Given the description of an element on the screen output the (x, y) to click on. 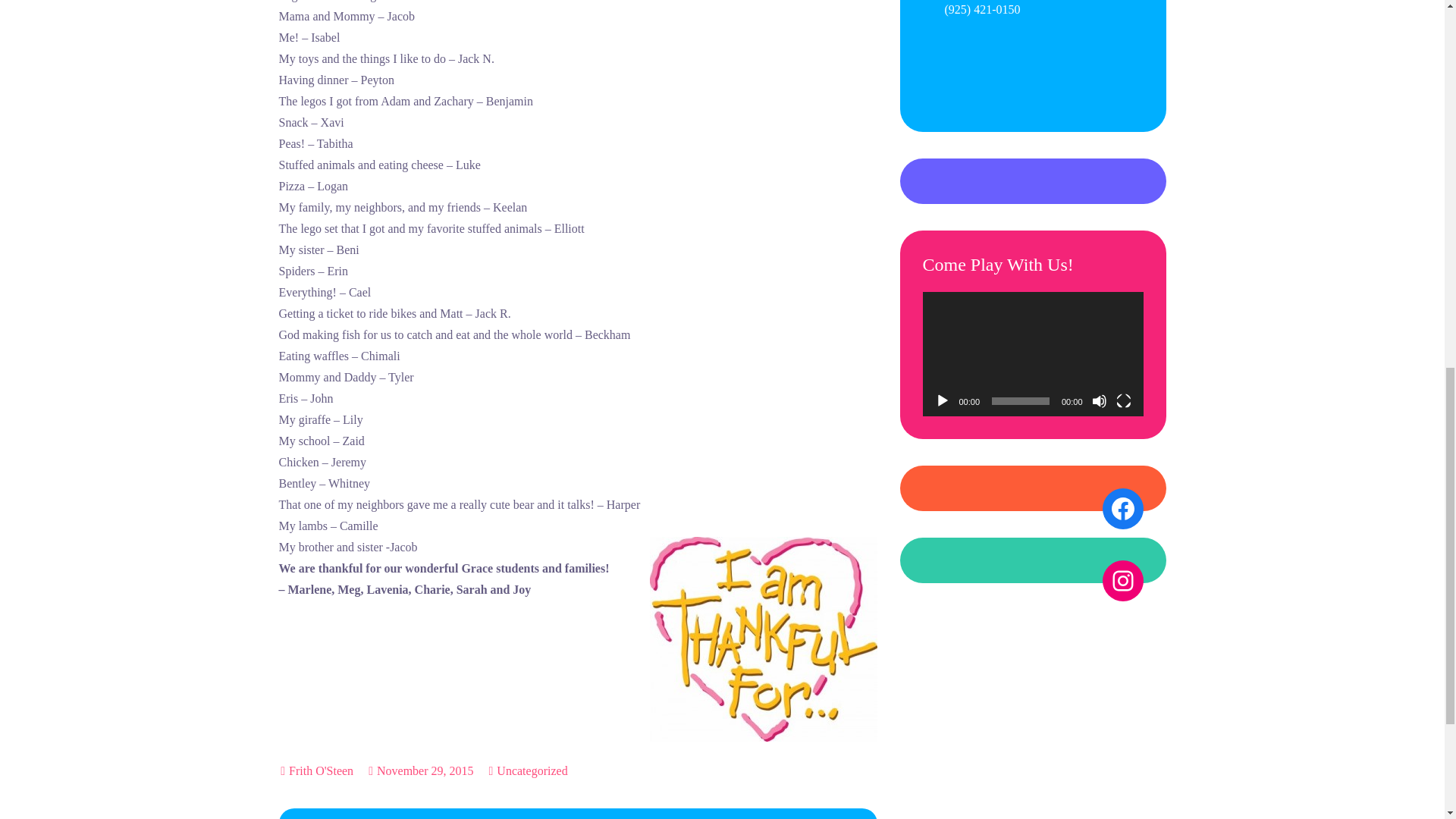
Frith O'Steen (320, 770)
Play (941, 400)
Facebook (1122, 508)
Fullscreen (1123, 400)
November 29, 2015 (420, 770)
Mute (1099, 400)
Uncategorized (531, 771)
Instagram (1122, 580)
